Given the description of an element on the screen output the (x, y) to click on. 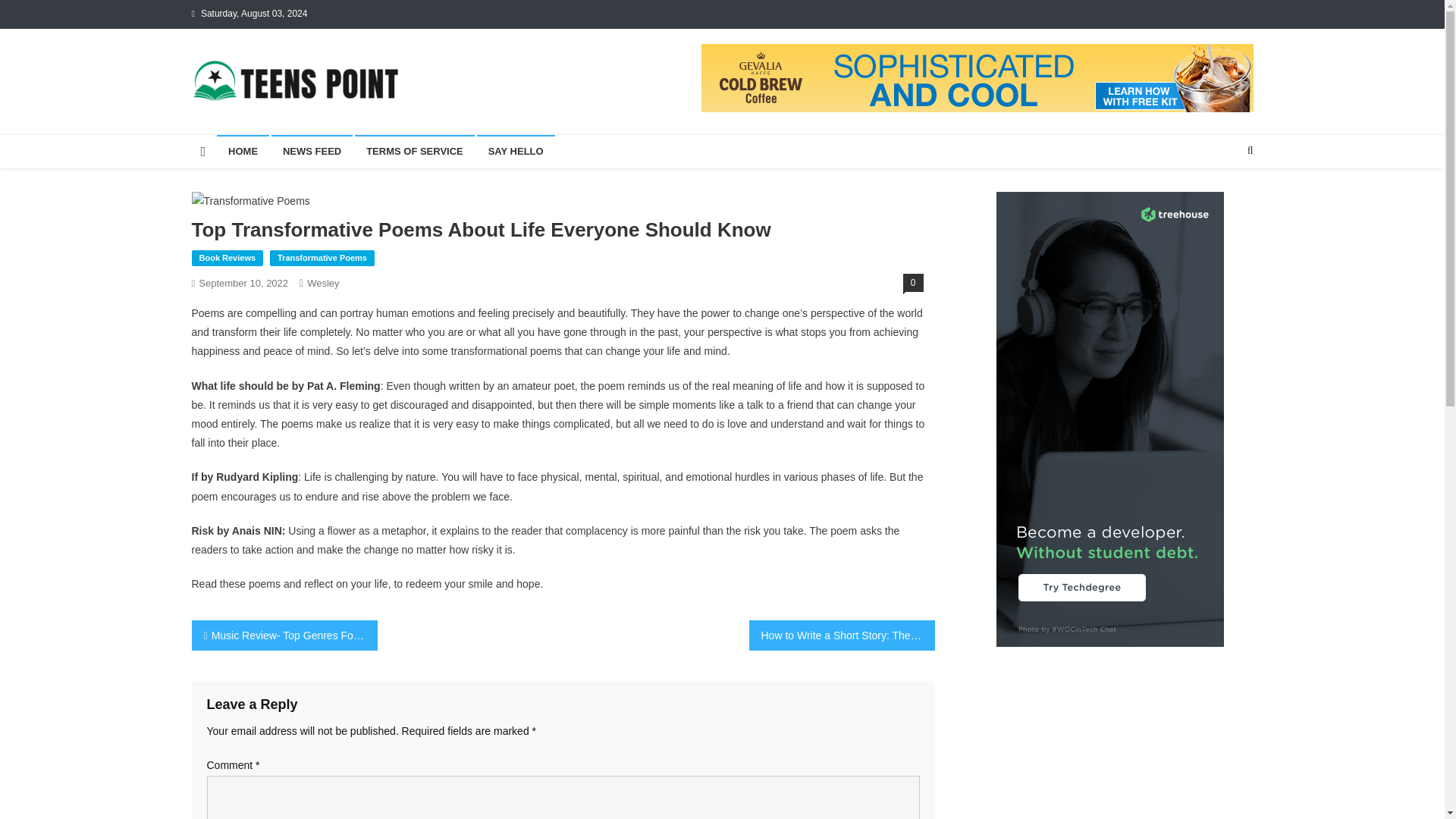
How to Write a Short Story: The Complete Guide in 9 Steps (841, 634)
Book Reviews (226, 258)
Transformative Poems (321, 258)
TERMS OF SERVICE (414, 151)
0 (912, 282)
HOME (242, 151)
Search (1221, 200)
September 10, 2022 (243, 283)
Music Review- Top Genres For Teens (283, 634)
Wesley (323, 283)
